Given the description of an element on the screen output the (x, y) to click on. 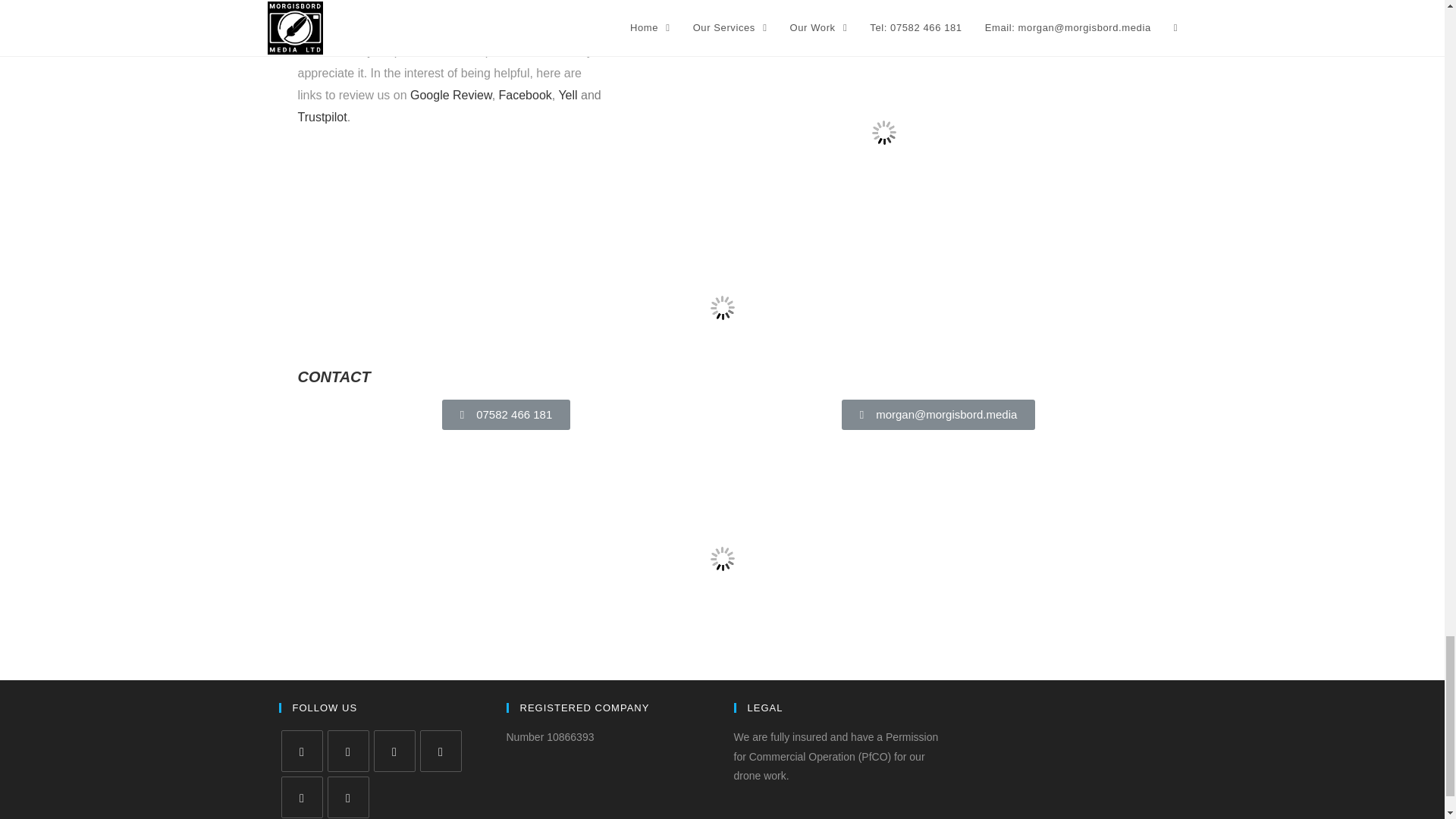
LinkedIn (301, 797)
Youtube (348, 797)
Twitter (301, 751)
Instagram (393, 751)
Facebook (348, 751)
GooglePlus (440, 751)
